Given the description of an element on the screen output the (x, y) to click on. 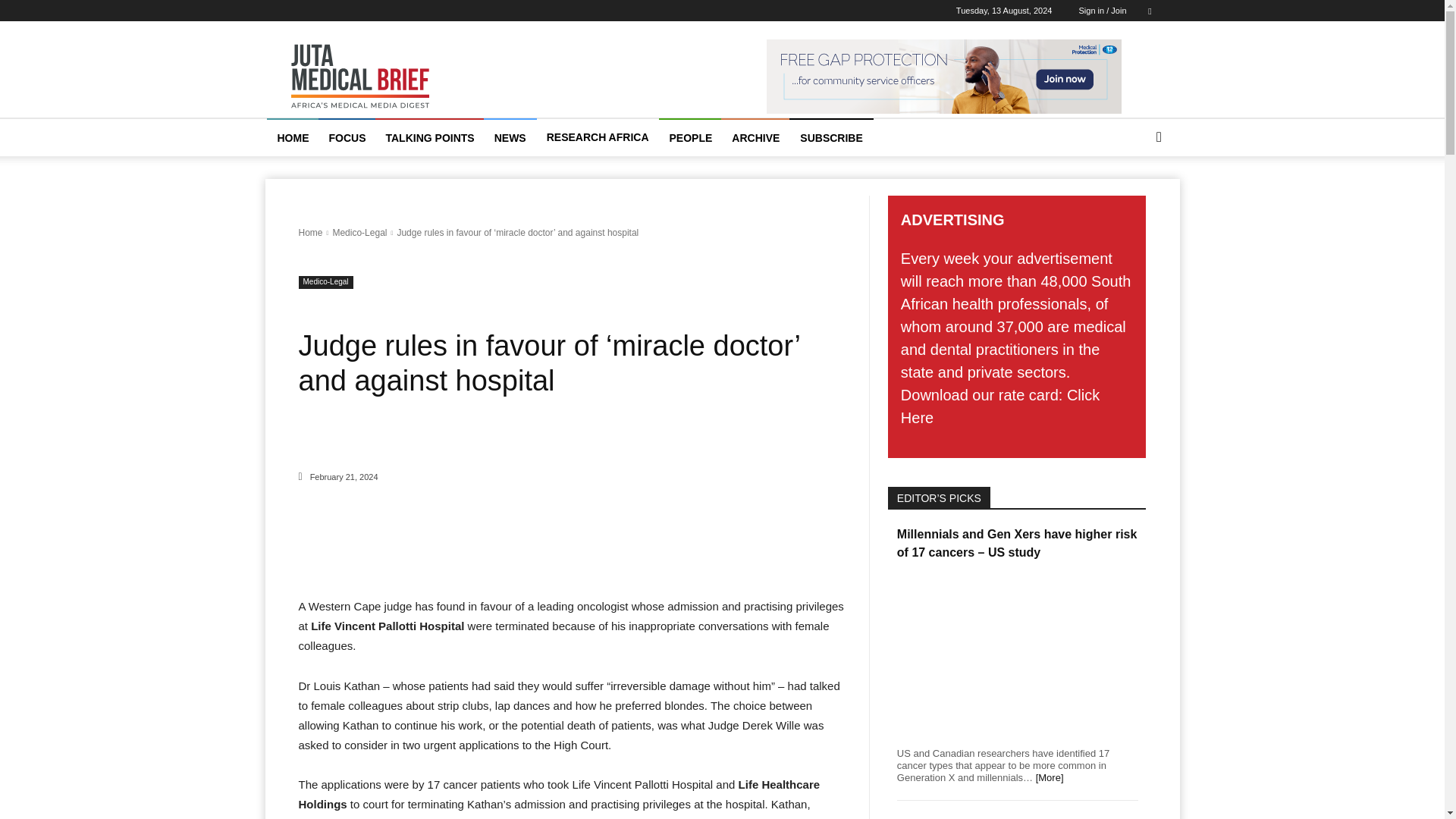
View all posts in Medico-Legal (359, 232)
PEOPLE (691, 137)
ARCHIVE (755, 137)
Twitter (1149, 10)
SUBSCRIBE (830, 137)
Search (1134, 197)
Medico-Legal (359, 232)
TALKING POINTS (429, 137)
Medico-Legal (325, 282)
Home (310, 232)
